Given the description of an element on the screen output the (x, y) to click on. 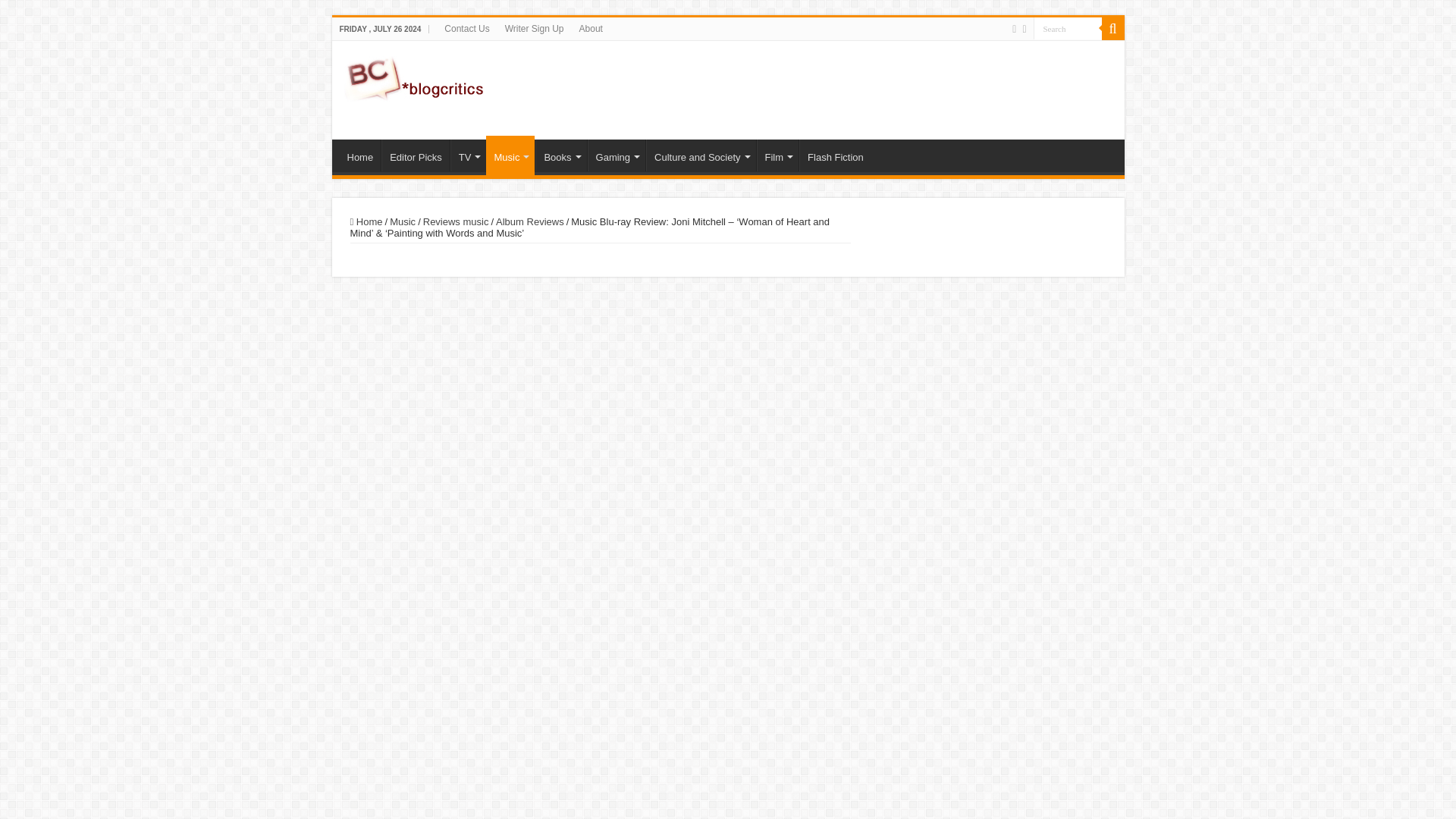
Search (1066, 28)
Editor Picks (415, 155)
TV (467, 155)
Contact Us (466, 28)
About (591, 28)
Writer Sign Up (534, 28)
Search (1066, 28)
Culture and Society (700, 155)
Home (360, 155)
Music (510, 155)
Gaming (617, 155)
Search (1112, 28)
Blogcritics (414, 75)
Books (560, 155)
Search (1066, 28)
